Given the description of an element on the screen output the (x, y) to click on. 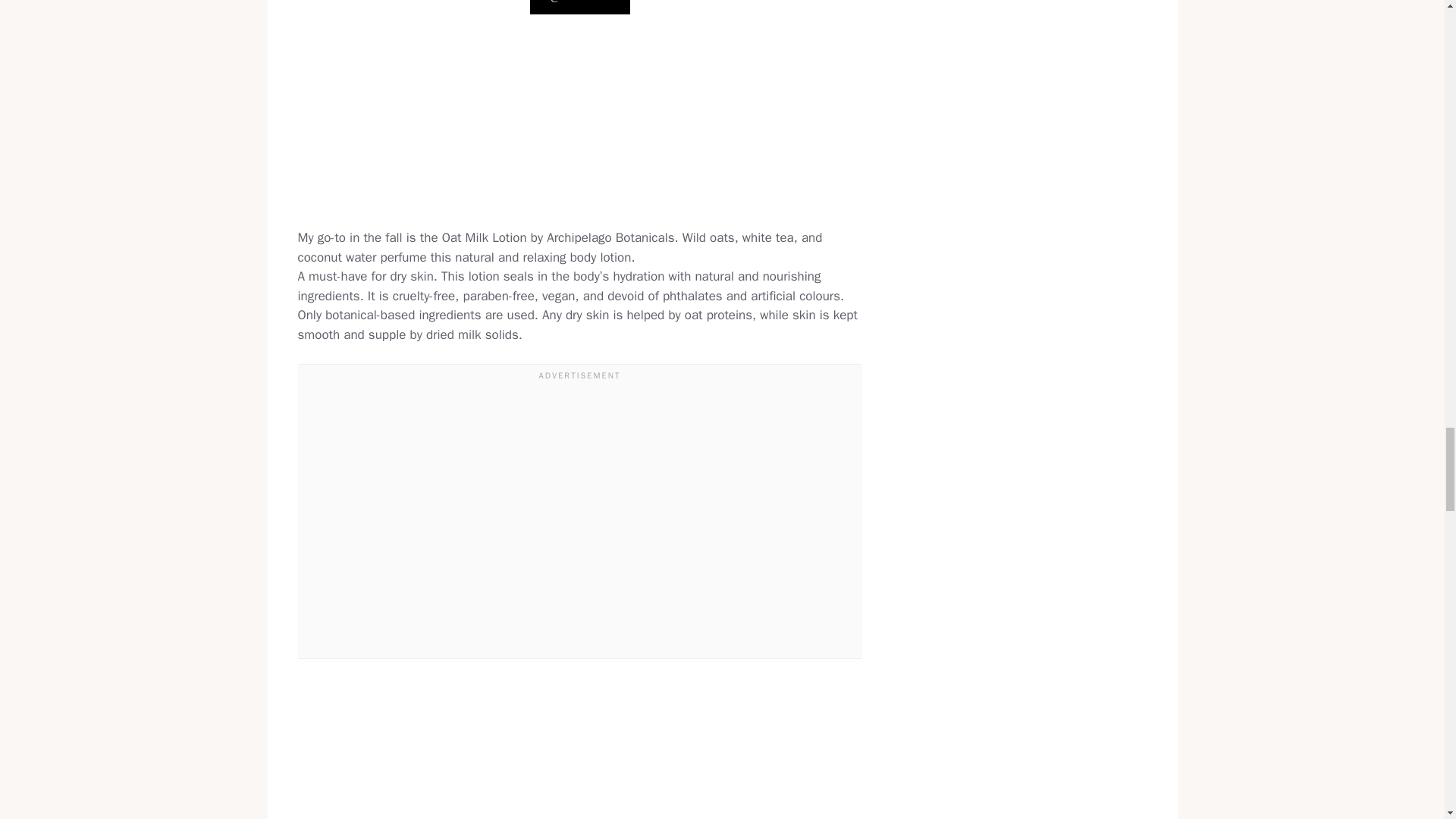
Evian Facial Spray, 10.1 Fl Oz (579, 758)
